Given the description of an element on the screen output the (x, y) to click on. 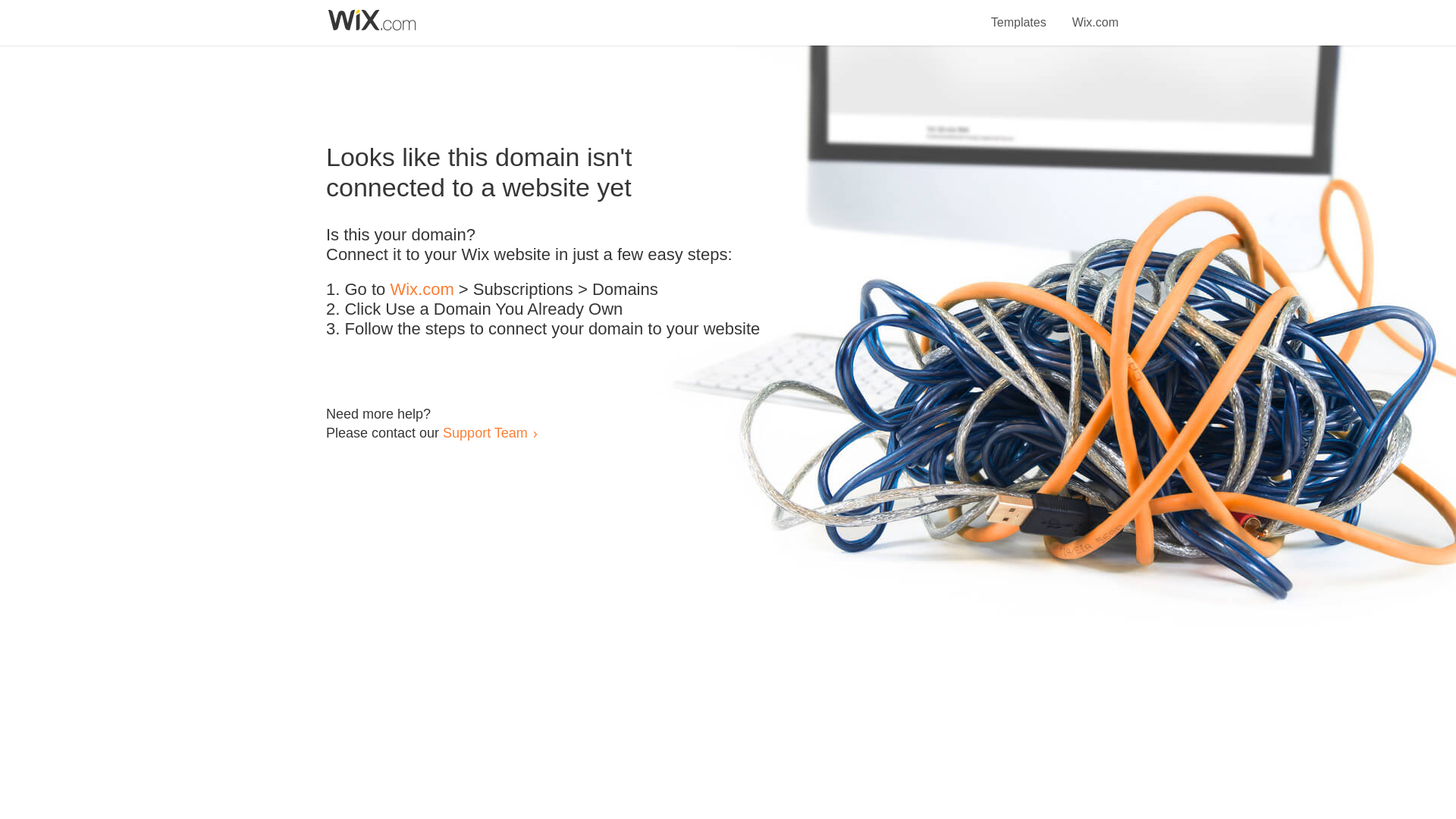
Wix.com (421, 289)
Templates (1018, 14)
Support Team (484, 432)
Wix.com (1095, 14)
